Given the description of an element on the screen output the (x, y) to click on. 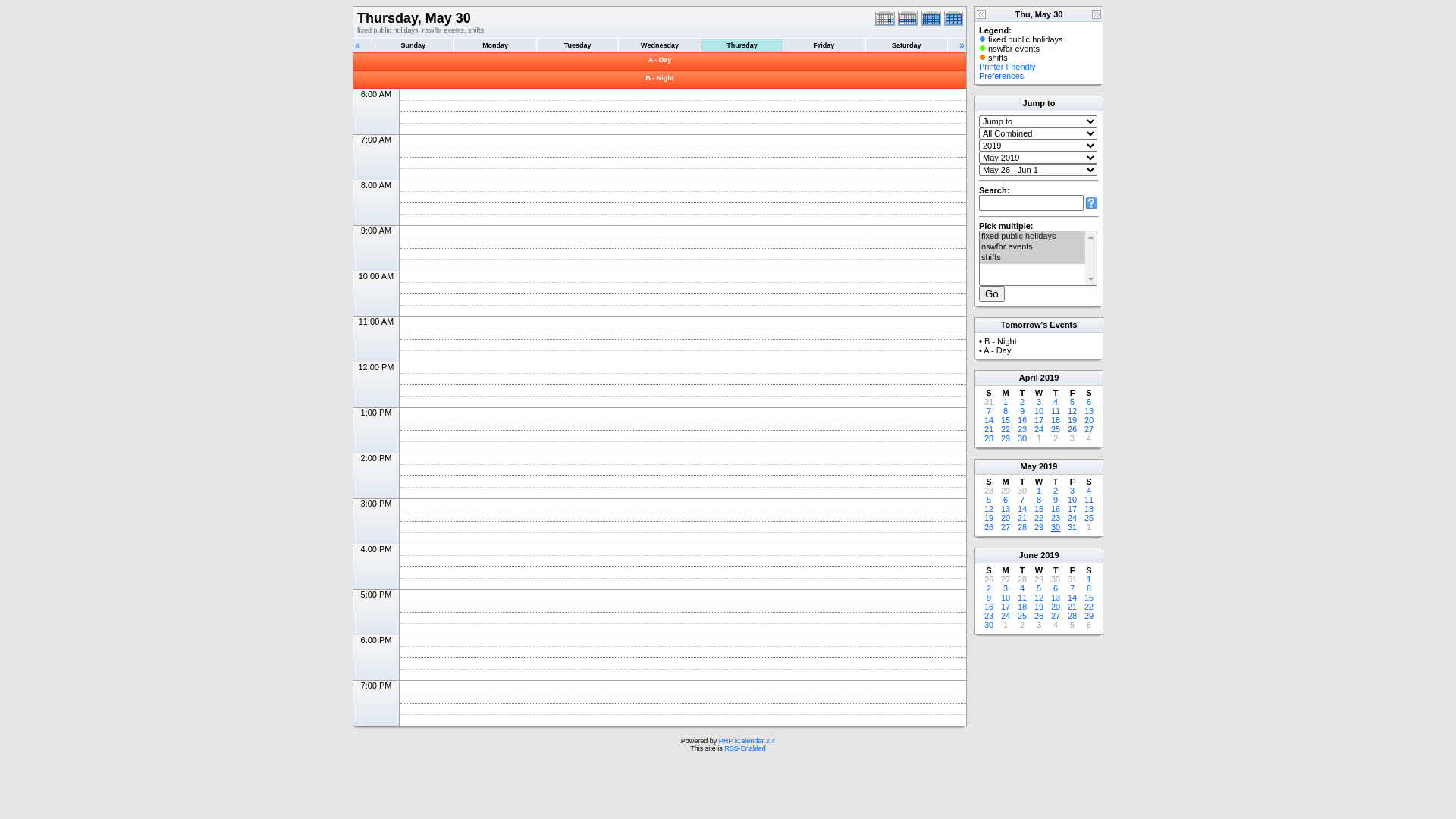
Preferences Element type: text (1001, 75)
25 Element type: text (1088, 517)
6 Element type: text (1088, 624)
5 Element type: text (988, 499)
Printer Friendly Element type: text (1007, 66)
23 Element type: text (1021, 428)
Saturday Element type: text (906, 45)
2 Element type: text (1021, 624)
Week Element type: hover (908, 18)
11 Element type: text (1055, 410)
15 Element type: text (1038, 508)
10 Element type: text (1005, 597)
8 Element type: text (1088, 588)
30 Element type: text (1021, 490)
21 Element type: text (1021, 517)
20 Element type: text (1005, 517)
Day Element type: hover (886, 18)
24 Element type: text (1071, 517)
17 Element type: text (1038, 419)
Friday Element type: text (823, 45)
June Element type: text (1028, 554)
Monday Element type: text (495, 45)
Wednesday Element type: text (659, 45)
26 Element type: text (1071, 428)
19 Element type: text (1071, 419)
Tuesday Element type: text (577, 45)
1 Element type: text (1038, 437)
1 Element type: text (1088, 526)
30 Element type: text (1055, 578)
4 Element type: text (1021, 588)
Thursday Element type: text (741, 44)
22 Element type: text (1005, 428)
3 Element type: text (1038, 624)
1 Element type: text (1005, 401)
16 Element type: text (1021, 419)
7 Element type: text (988, 410)
23 Element type: text (1055, 517)
22 Element type: text (1088, 606)
4 Element type: text (1055, 401)
7 Element type: text (1072, 588)
29 Element type: text (1005, 437)
31 Element type: text (1071, 526)
11 Element type: text (1088, 499)
20 Element type: text (1088, 419)
13 Element type: text (1055, 597)
Wednesday Element type: text (658, 44)
Sunday Element type: text (412, 44)
27 Element type: text (1005, 526)
28 Element type: text (988, 490)
1 Element type: text (1088, 578)
17 Element type: text (1071, 508)
8 Element type: text (1005, 410)
29 Element type: text (1038, 578)
9 Element type: text (1055, 499)
Monday Element type: text (494, 44)
3 Element type: text (1005, 588)
20 Element type: text (1055, 606)
Go Element type: text (991, 293)
29 Element type: text (1005, 490)
Month Element type: hover (931, 18)
4 Element type: text (1088, 437)
26 Element type: text (988, 526)
9 Element type: text (1021, 410)
30 Element type: text (1055, 526)
A - Day Element type: text (996, 349)
5 Element type: text (1072, 401)
15 Element type: text (1005, 419)
May Element type: text (1028, 465)
21 Element type: text (988, 428)
25 Element type: text (1021, 615)
RSS-Enabled Element type: text (744, 748)
14 Element type: text (988, 419)
PHP iCalendar 2.4 Element type: text (746, 740)
Thursday Element type: text (741, 45)
28 Element type: text (988, 437)
April Element type: text (1028, 377)
27 Element type: text (1055, 615)
3 Element type: text (1072, 490)
2 Element type: text (1055, 490)
14 Element type: text (1071, 597)
2 Element type: text (1055, 437)
31 Element type: text (1071, 578)
Saturday Element type: text (906, 44)
2019 Element type: text (1047, 465)
3 Element type: text (1072, 437)
B - Night Element type: text (1000, 340)
26 Element type: text (988, 578)
16 Element type: text (988, 606)
12 Element type: text (1071, 410)
10 Element type: text (1071, 499)
30 Element type: text (1021, 437)
Friday Element type: text (823, 44)
28 Element type: text (1071, 615)
12 Element type: text (1038, 597)
4 Element type: text (1055, 624)
31 Element type: text (988, 401)
6 Element type: text (1055, 588)
27 Element type: text (1088, 428)
18 Element type: text (1021, 606)
29 Element type: text (1038, 526)
4 Element type: text (1088, 490)
26 Element type: text (1038, 615)
2 Element type: text (1021, 401)
6 Element type: text (1088, 401)
3 Element type: text (1038, 401)
11 Element type: text (1021, 597)
19 Element type: text (988, 517)
8 Element type: text (1038, 499)
2019 Element type: text (1049, 377)
1 Element type: text (1038, 490)
2019 Element type: text (1049, 554)
12 Element type: text (988, 508)
27 Element type: text (1005, 578)
5 Element type: text (1038, 588)
7 Element type: text (1021, 499)
24 Element type: text (1038, 428)
18 Element type: text (1088, 508)
29 Element type: text (1088, 615)
24 Element type: text (1005, 615)
13 Element type: text (1005, 508)
6 Element type: text (1005, 499)
17 Element type: text (1005, 606)
23 Element type: text (988, 615)
Year Element type: hover (955, 18)
5 Element type: text (1072, 624)
25 Element type: text (1055, 428)
28 Element type: text (1021, 526)
19 Element type: text (1038, 606)
22 Element type: text (1038, 517)
Tuesday Element type: text (577, 44)
30 Element type: text (988, 624)
10 Element type: text (1038, 410)
Sunday Element type: text (412, 45)
21 Element type: text (1071, 606)
2 Element type: text (988, 588)
16 Element type: text (1055, 508)
9 Element type: text (988, 597)
A - Day Element type: text (659, 59)
18 Element type: text (1055, 419)
28 Element type: text (1021, 578)
B - Night Element type: text (659, 77)
13 Element type: text (1088, 410)
14 Element type: text (1021, 508)
1 Element type: text (1005, 624)
15 Element type: text (1088, 597)
